Given the description of an element on the screen output the (x, y) to click on. 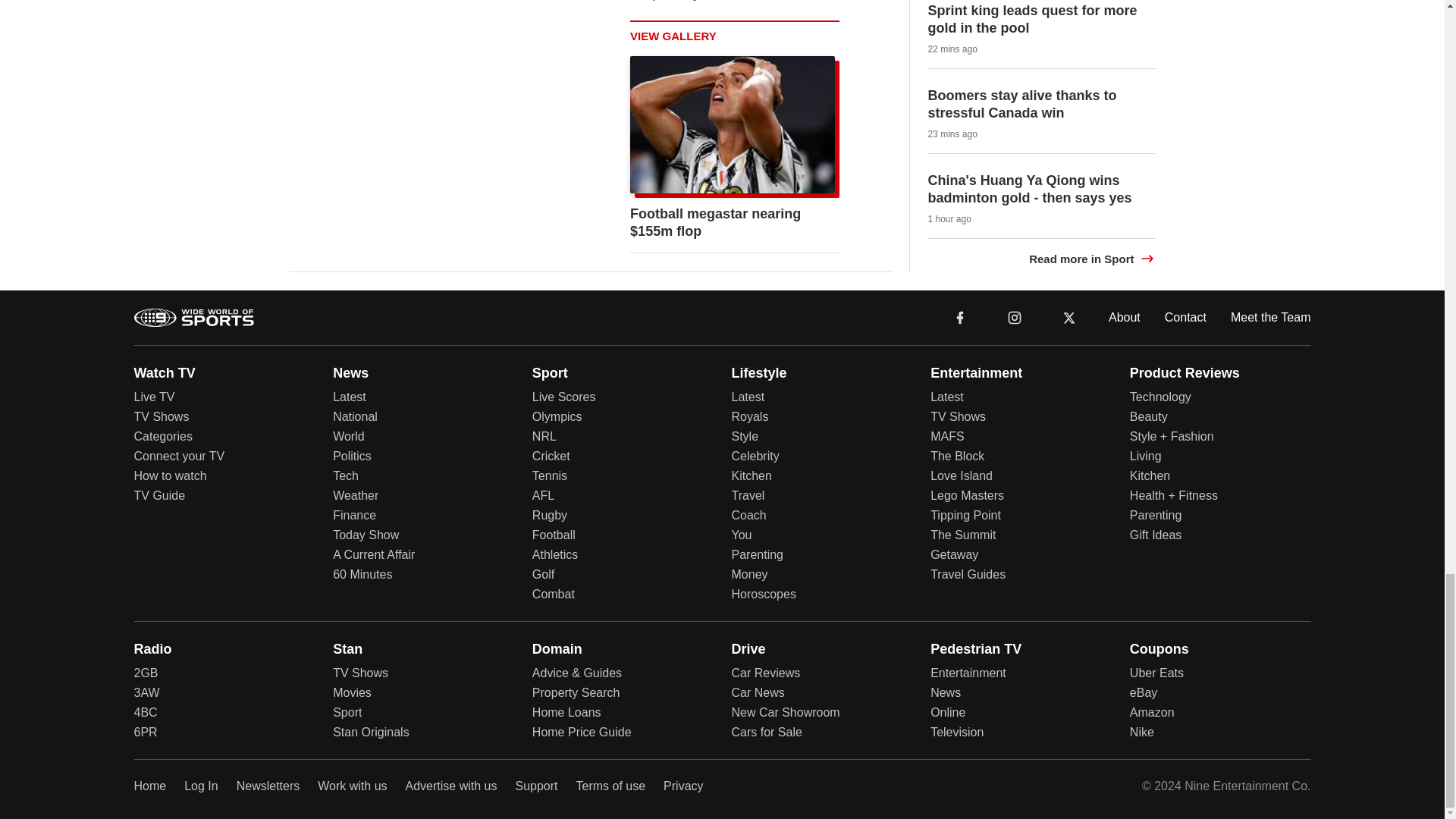
Live TV (153, 396)
TV Shows (161, 416)
Watch TV (164, 372)
facebook (960, 317)
Contact (1185, 317)
x (1069, 316)
x (1069, 317)
x (1069, 316)
instagram (1013, 316)
Meet the Team (1270, 317)
